Given the description of an element on the screen output the (x, y) to click on. 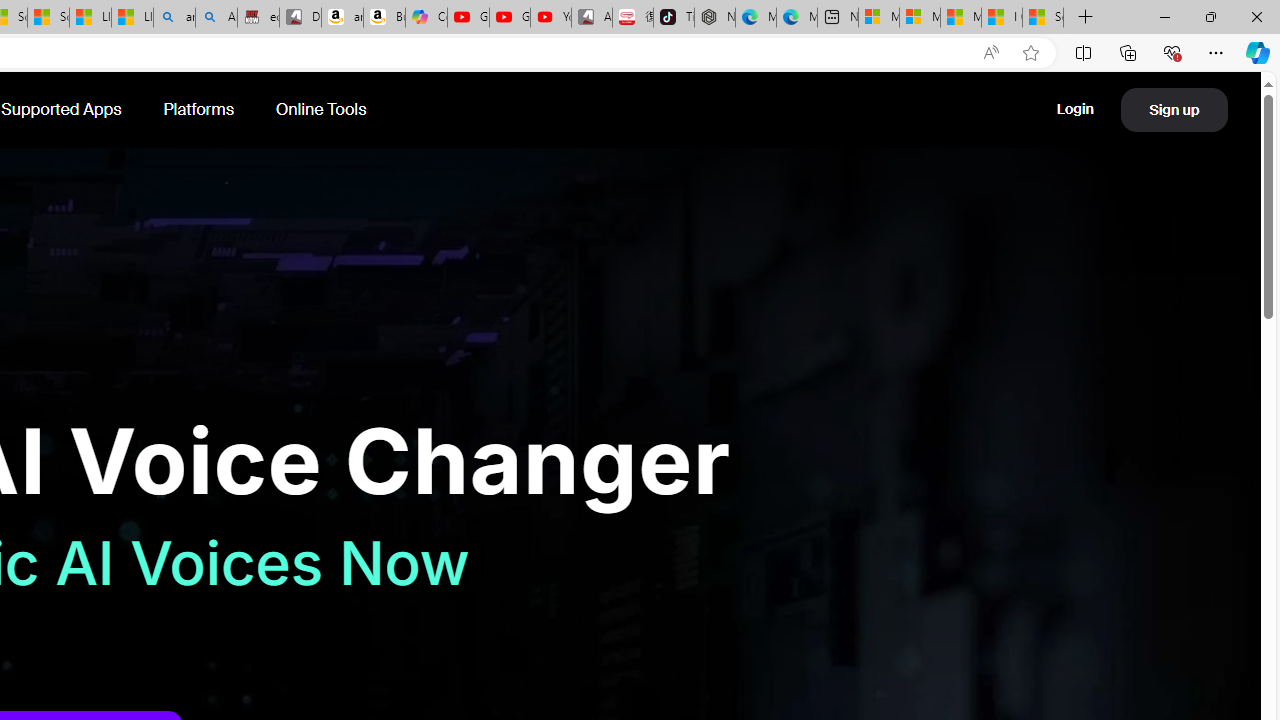
Online Tools (321, 109)
Supported Apps  (63, 109)
